Given the description of an element on the screen output the (x, y) to click on. 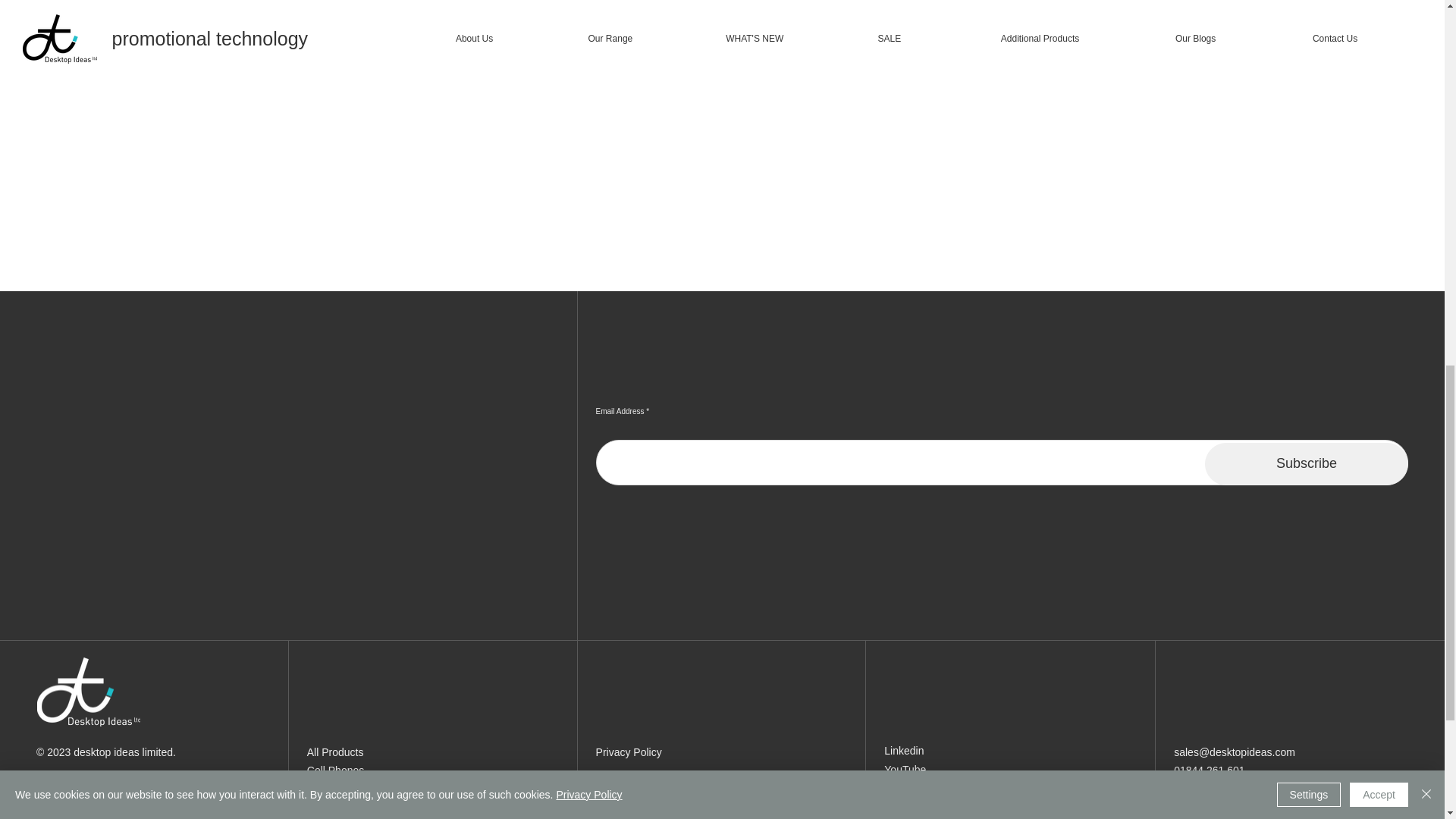
Print Area Dimensions (1000, 53)
YouTube (904, 769)
Print Areas (1000, 4)
Cell Phones (336, 770)
Privacy Policy (628, 752)
Subscribe (1306, 464)
Linkedin (903, 750)
All Products (335, 752)
